Given the description of an element on the screen output the (x, y) to click on. 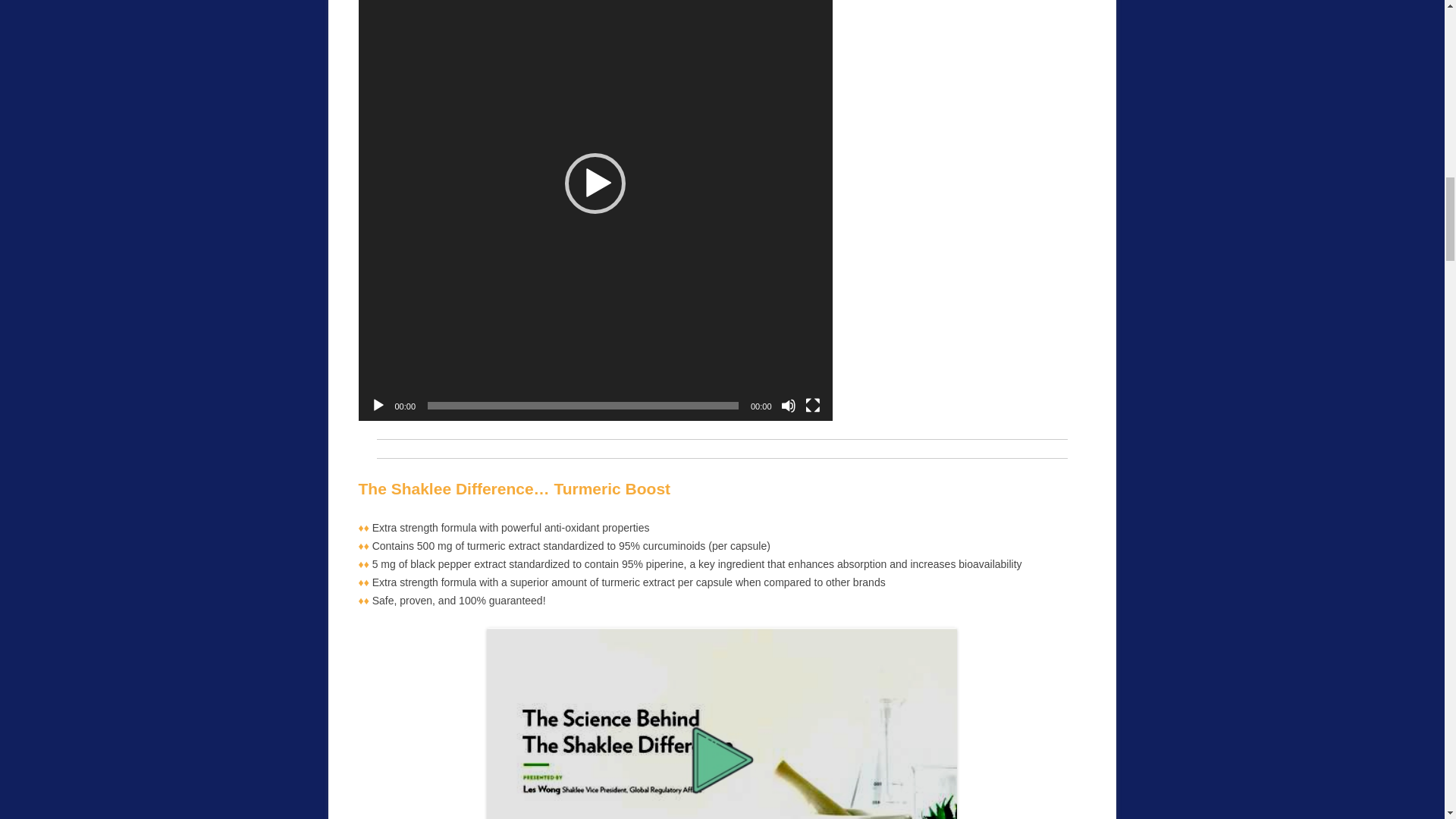
Fullscreen (813, 405)
Play (377, 405)
Mute (788, 405)
